Given the description of an element on the screen output the (x, y) to click on. 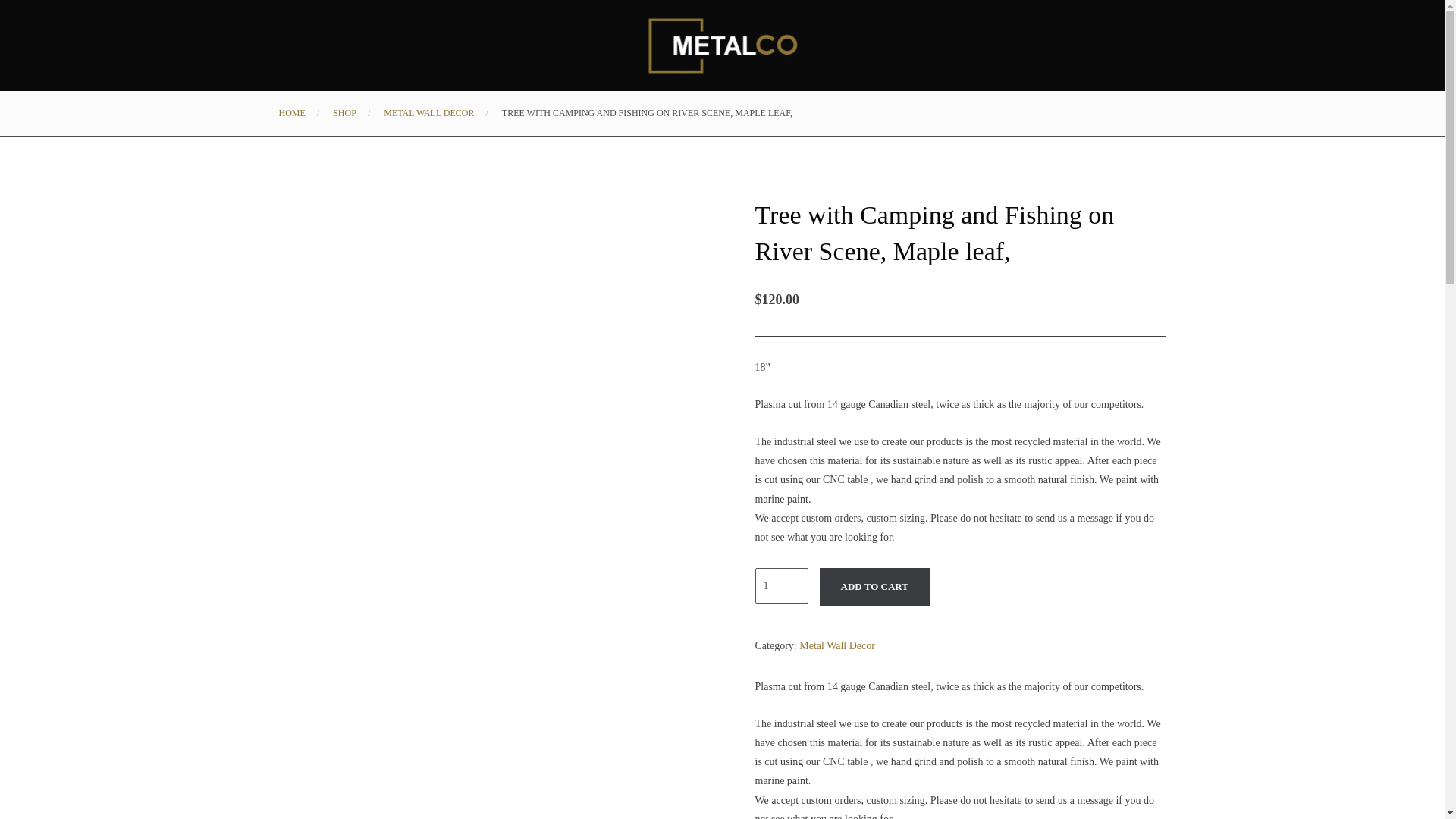
ADD TO CART (874, 587)
SHOP (344, 112)
METAL WALL DECOR (429, 112)
HOME (292, 112)
1 (781, 585)
Metal Wall Decor (837, 645)
